Given the description of an element on the screen output the (x, y) to click on. 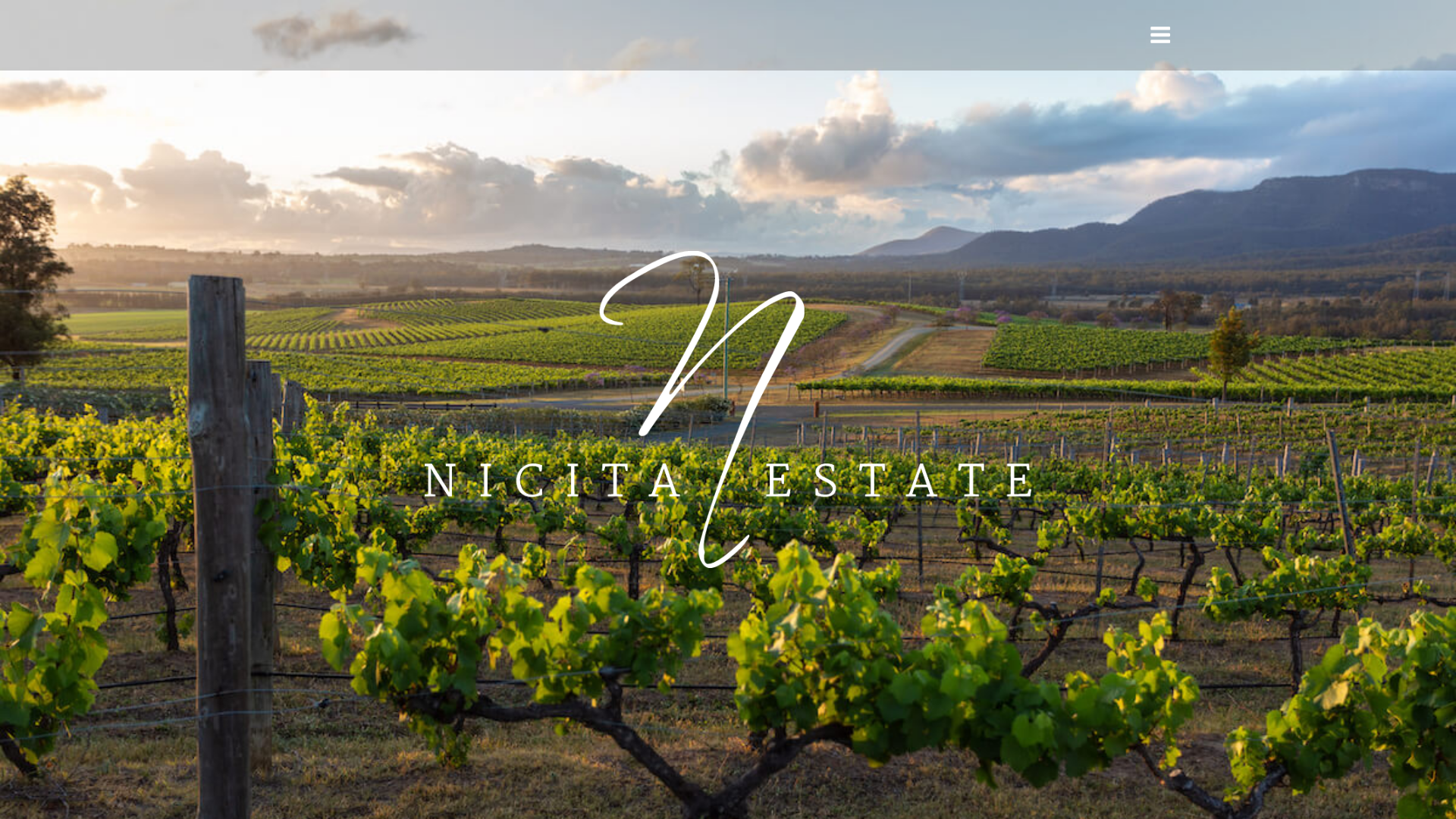
Skip to content Element type: text (0, 0)
